Given the description of an element on the screen output the (x, y) to click on. 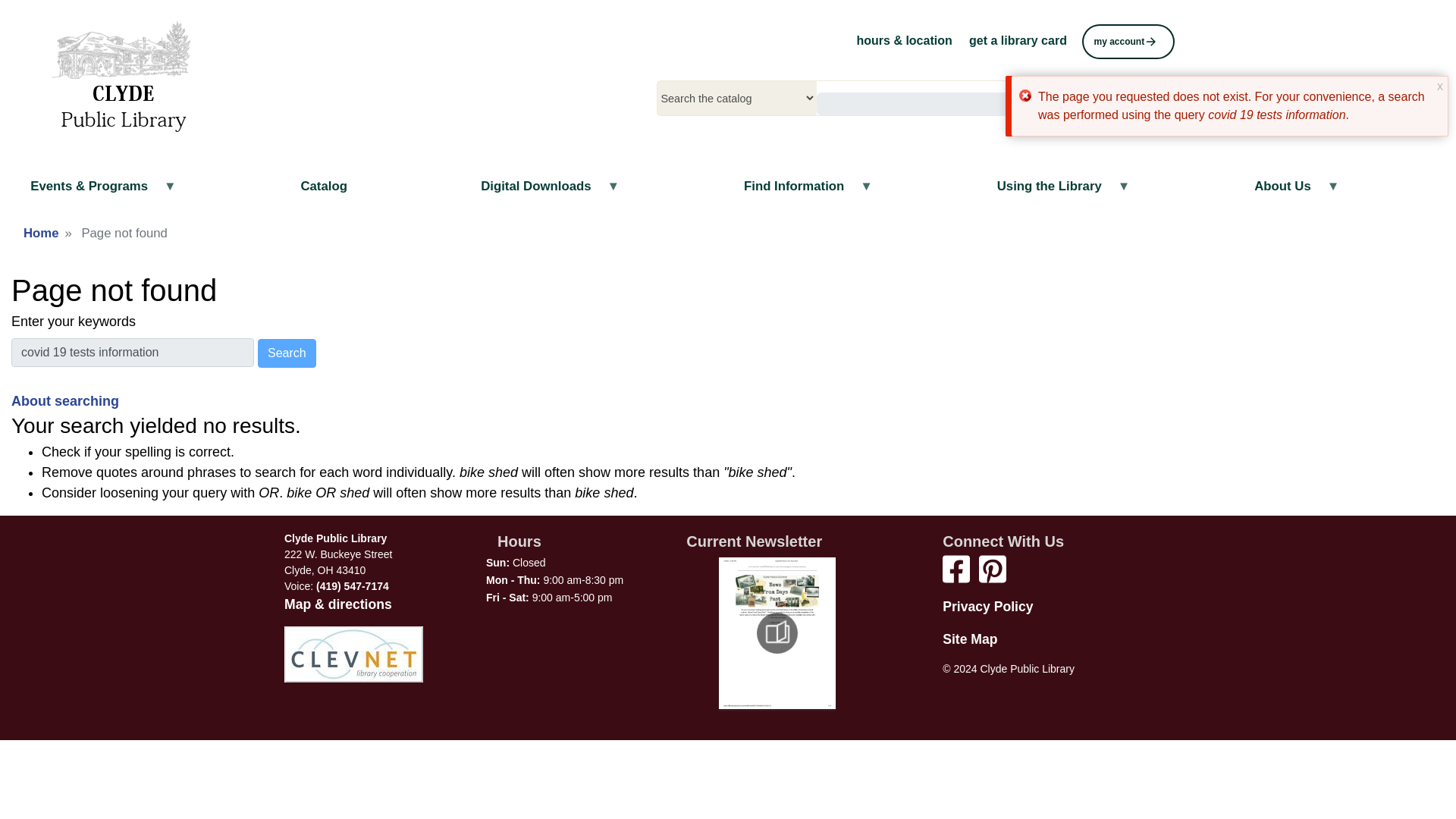
get a library card (1018, 40)
Skip to main content (727, 1)
covid 19 tests information (132, 352)
View Publication (776, 632)
 my account  (1127, 40)
Home (120, 77)
covid 19 tests information (132, 352)
Catalog (323, 186)
 my account  (1127, 41)
